Given the description of an element on the screen output the (x, y) to click on. 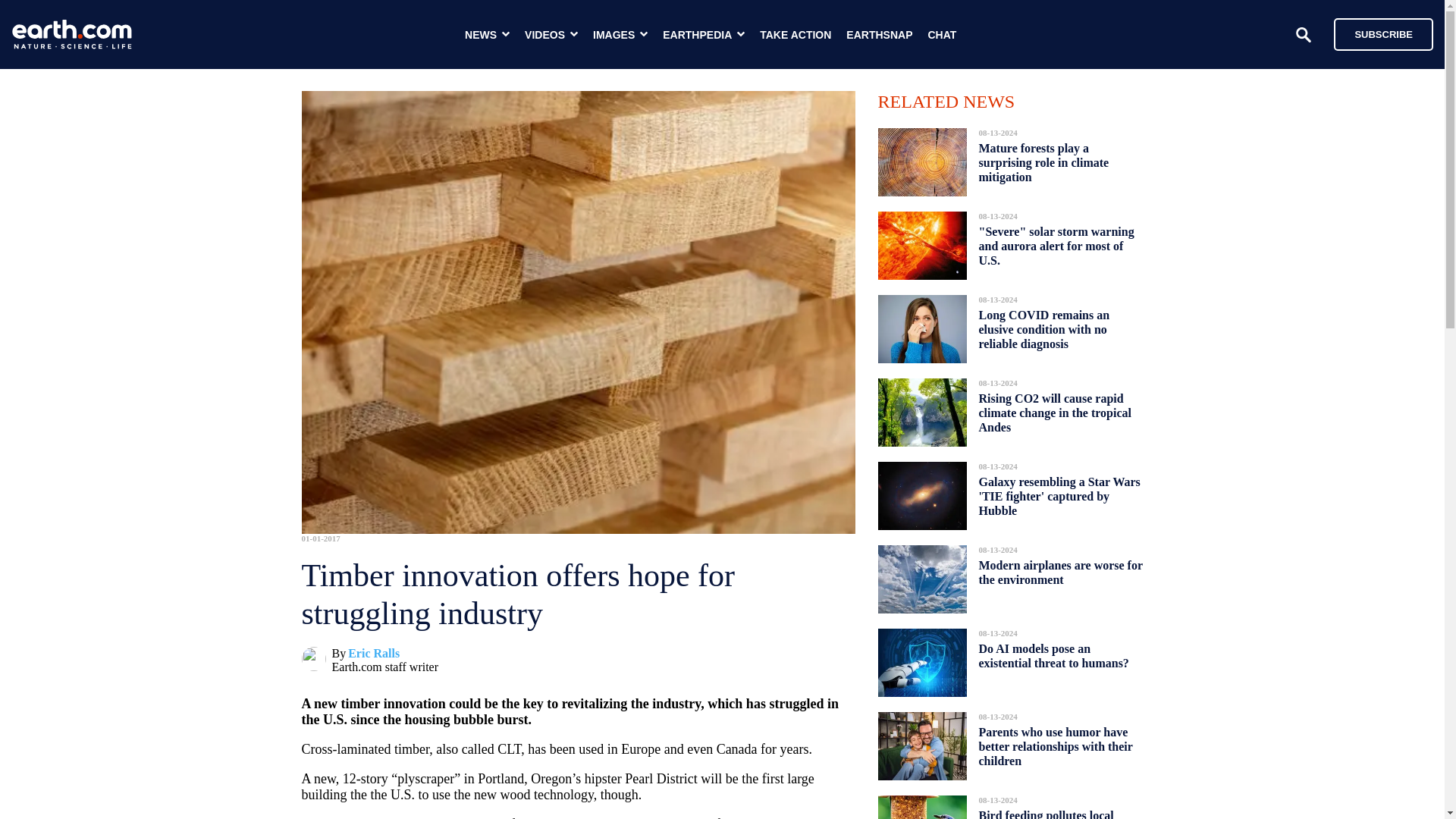
SUBSCRIBE (1382, 34)
SUBSCRIBE (1375, 33)
Mature forests play a surprising role in climate mitigation (1043, 162)
Bird feeding pollutes local ecosystems (1045, 810)
TAKE ACTION (795, 34)
CHAT (941, 34)
Modern airplanes are worse for the environment (1059, 572)
